Given the description of an element on the screen output the (x, y) to click on. 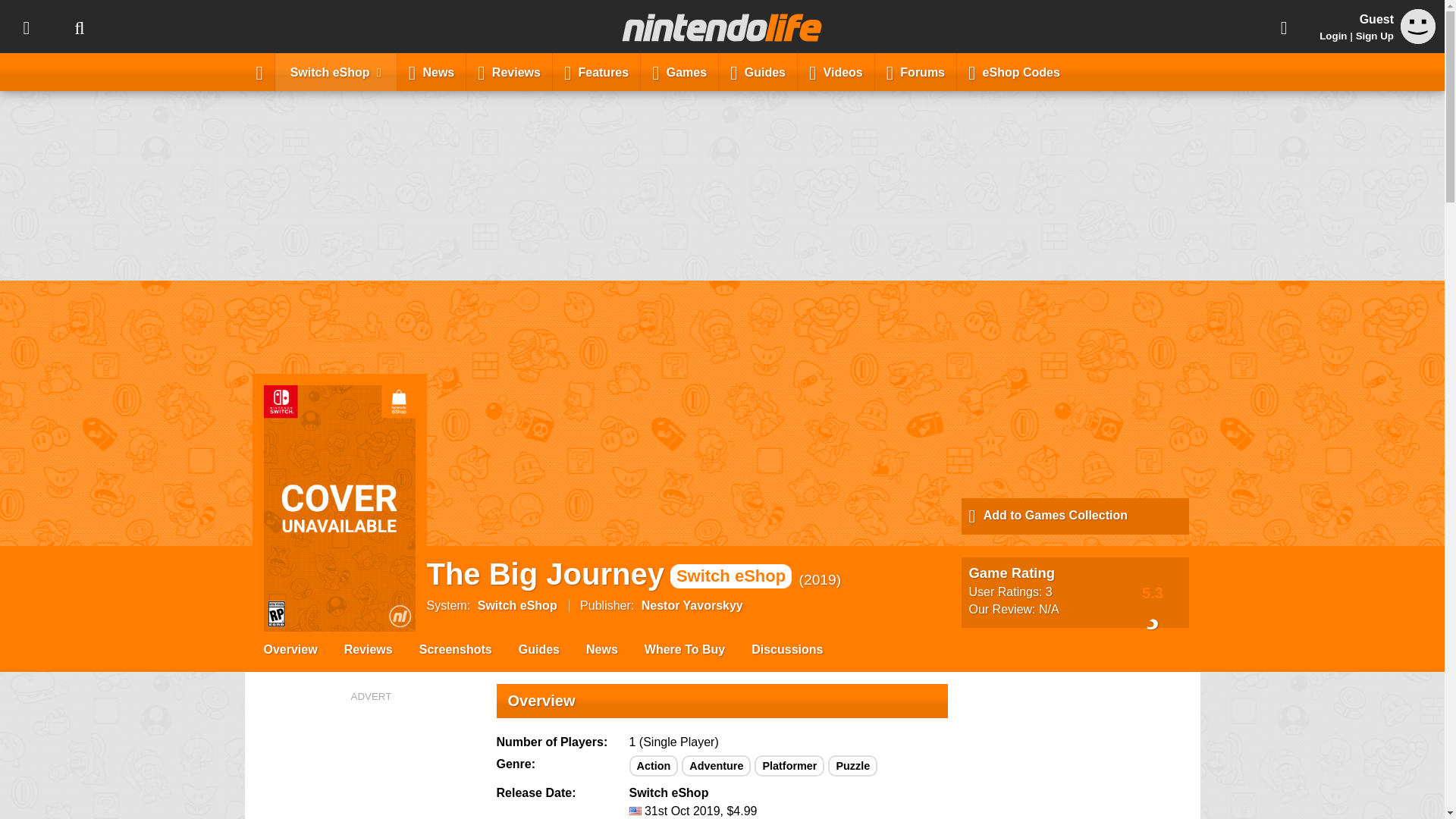
Switch eShop (336, 71)
Topics (26, 26)
Guides (758, 71)
Features (596, 71)
The Big JourneySwitch eShop (609, 573)
Nintendo Life (721, 27)
Login (1332, 35)
Sign Up (1374, 35)
Guest (1417, 39)
News (431, 71)
The average score from our readers is 5.33 (1152, 591)
Nintendo Life (721, 27)
Reviews (509, 71)
Search (79, 26)
Videos (836, 71)
